Given the description of an element on the screen output the (x, y) to click on. 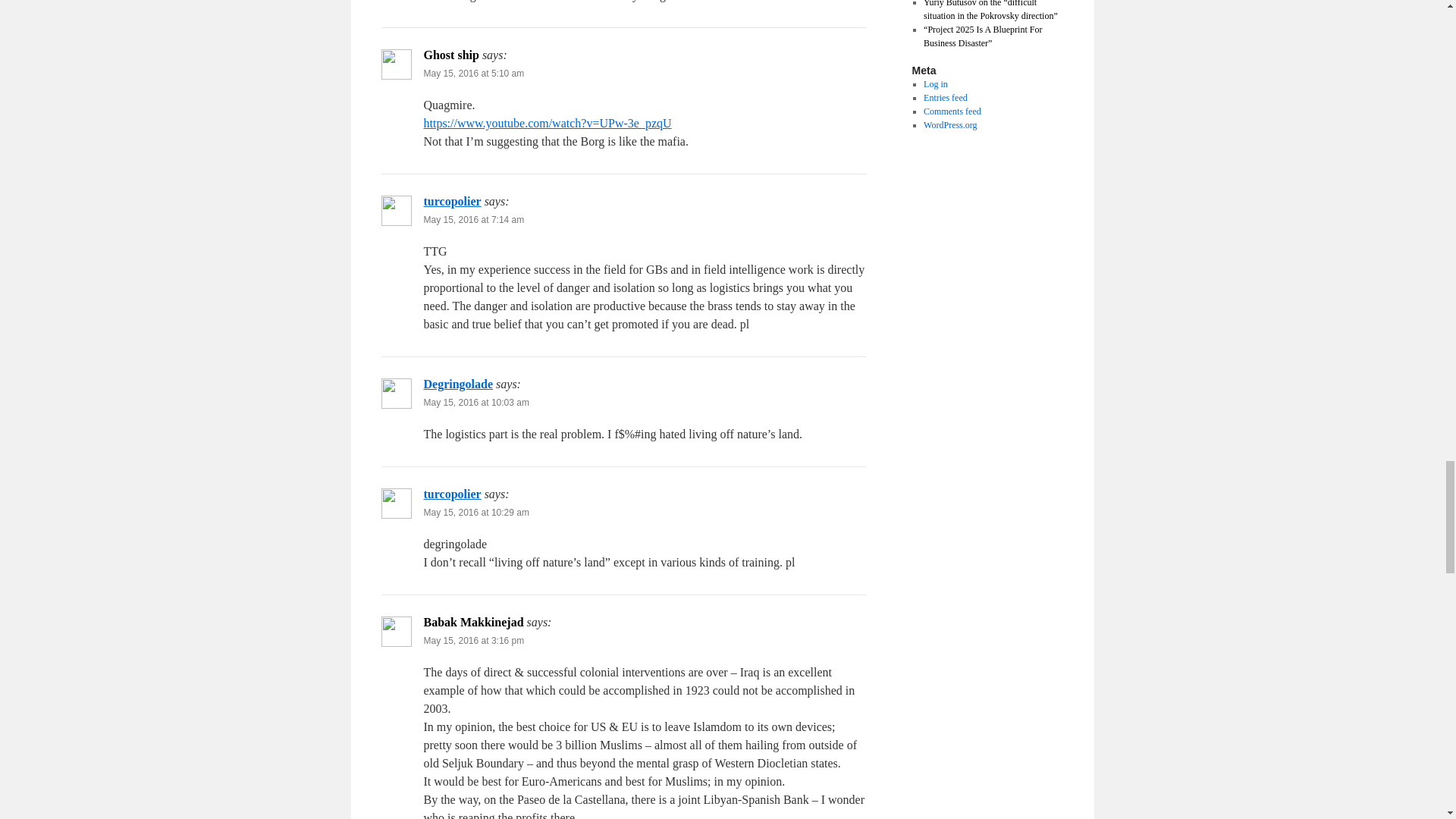
turcopolier (451, 201)
May 15, 2016 at 7:14 am (473, 219)
May 15, 2016 at 5:10 am (473, 72)
turcopolier (451, 493)
Degringolade (458, 383)
May 15, 2016 at 3:16 pm (473, 640)
May 15, 2016 at 10:03 am (475, 402)
May 15, 2016 at 10:29 am (475, 511)
